Given the description of an element on the screen output the (x, y) to click on. 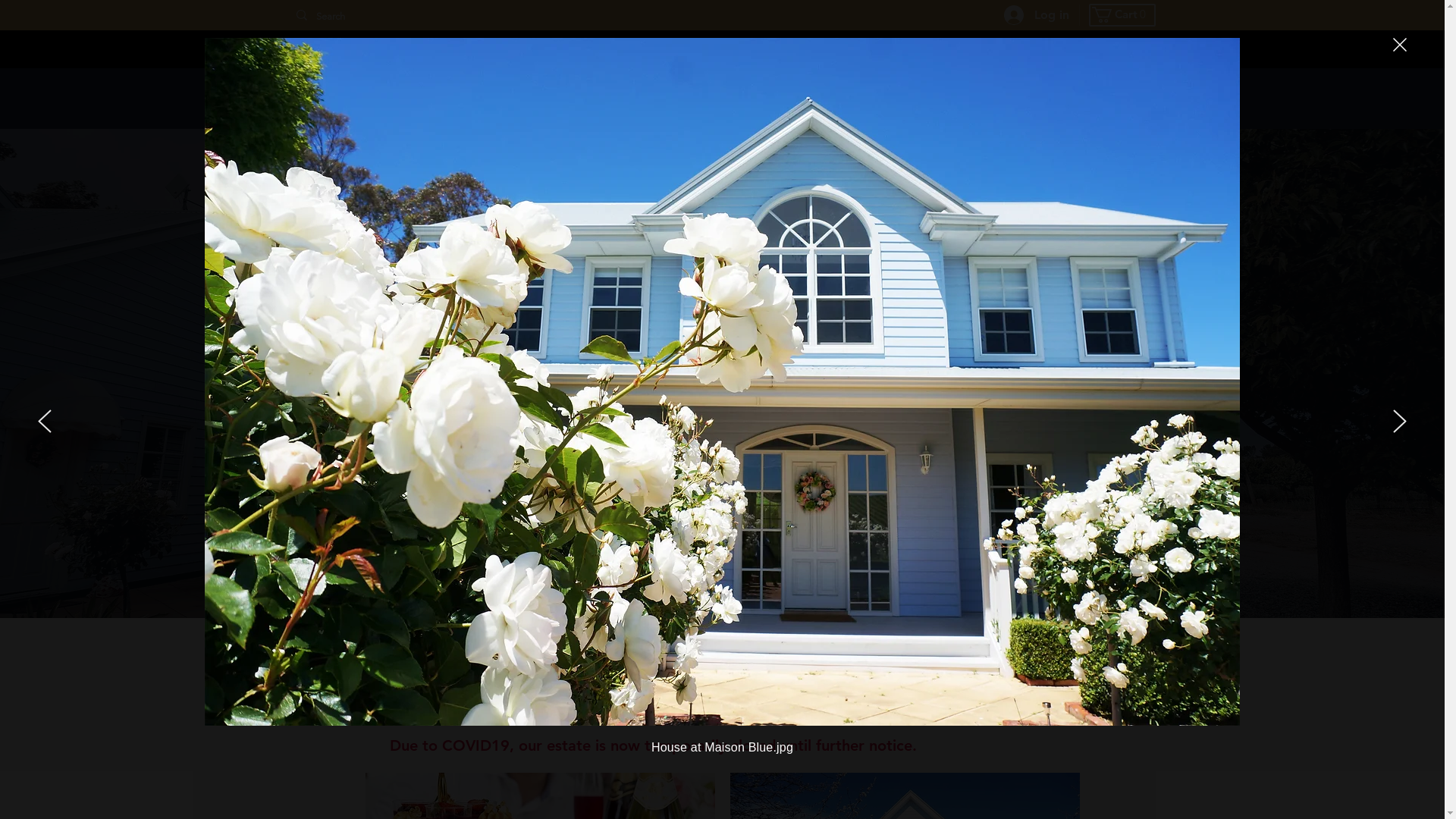
SHOP Element type: text (721, 98)
Log in Element type: text (1036, 14)
BLOG Element type: text (988, 98)
SUBSCRIPTION Element type: text (854, 98)
ABOUT Element type: text (1090, 98)
BLACK FRIDAY SALES!!! ENJOY UP TO 50% OFF Element type: text (722, 48)
Cart
0 Element type: text (1122, 14)
HOME Element type: text (621, 98)
